Given the description of an element on the screen output the (x, y) to click on. 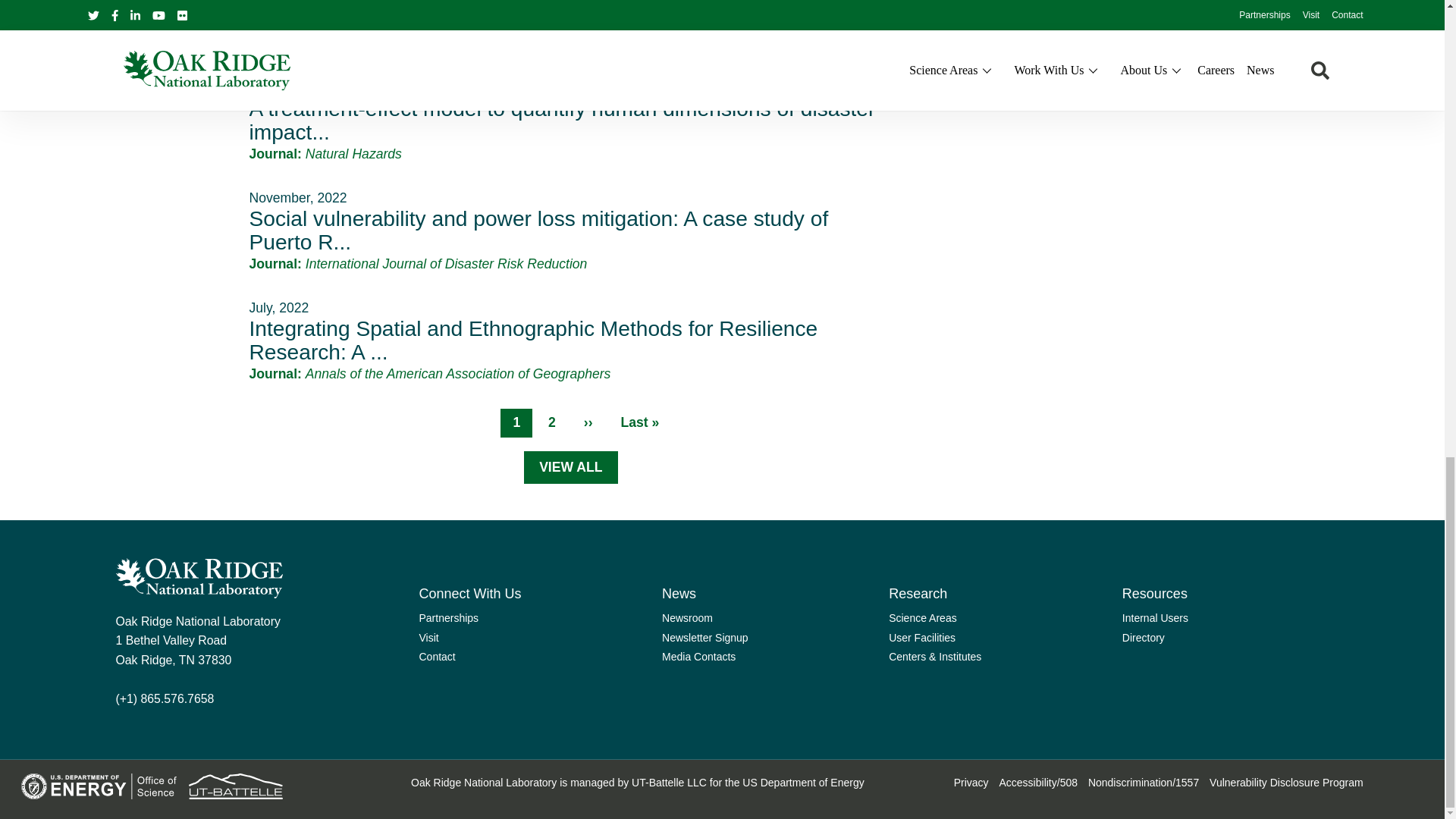
Go to last page (639, 422)
